Given the description of an element on the screen output the (x, y) to click on. 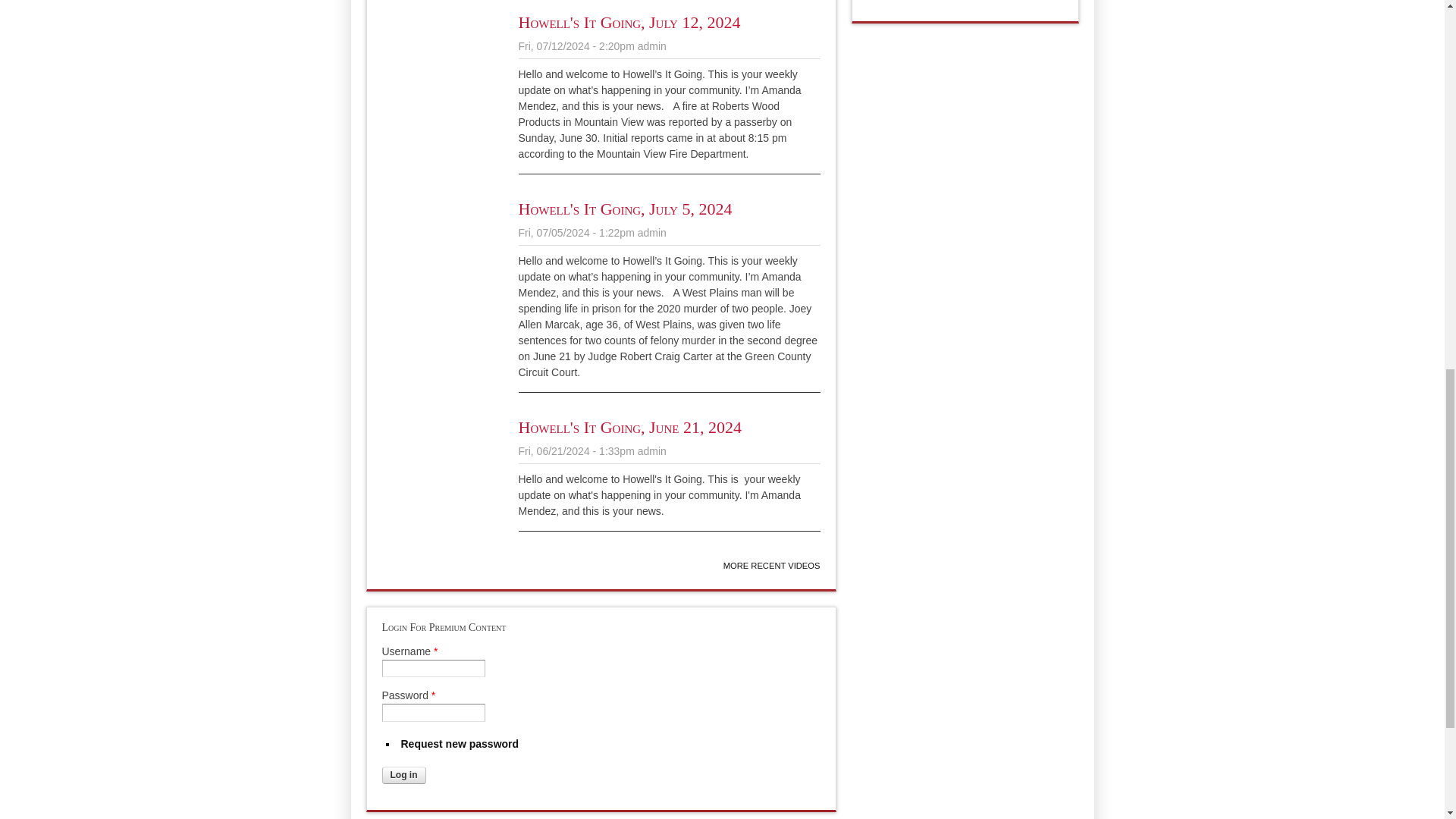
Howell'S It Going, July 5, 2024 (625, 208)
Log in (403, 775)
Log in (403, 775)
Howell'S It Going, June 21, 2024 (629, 426)
Howell'S It Going, July 12, 2024 (629, 22)
MORE RECENT VIDEOS (772, 565)
Request new password (459, 743)
